Given the description of an element on the screen output the (x, y) to click on. 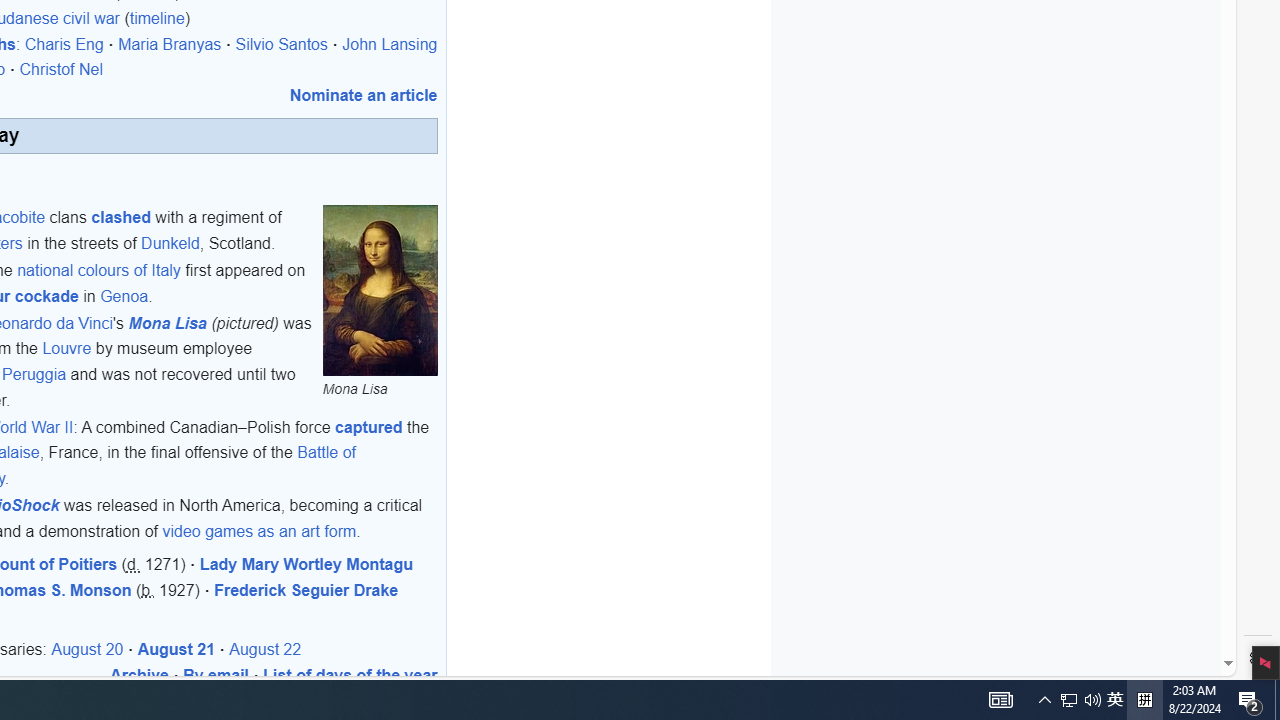
video games as an art form (259, 531)
national colours of Italy (98, 271)
List of days of the year (349, 675)
August 20 (87, 649)
List of days of the year (349, 675)
August 21 (176, 649)
Silvio Santos (281, 44)
Nominate an article (363, 94)
Christof Nel (61, 70)
clashed (120, 217)
John Lansing (389, 44)
Mona Lisa (167, 322)
By email (216, 675)
Frederick Seguier Drake (306, 590)
